Given the description of an element on the screen output the (x, y) to click on. 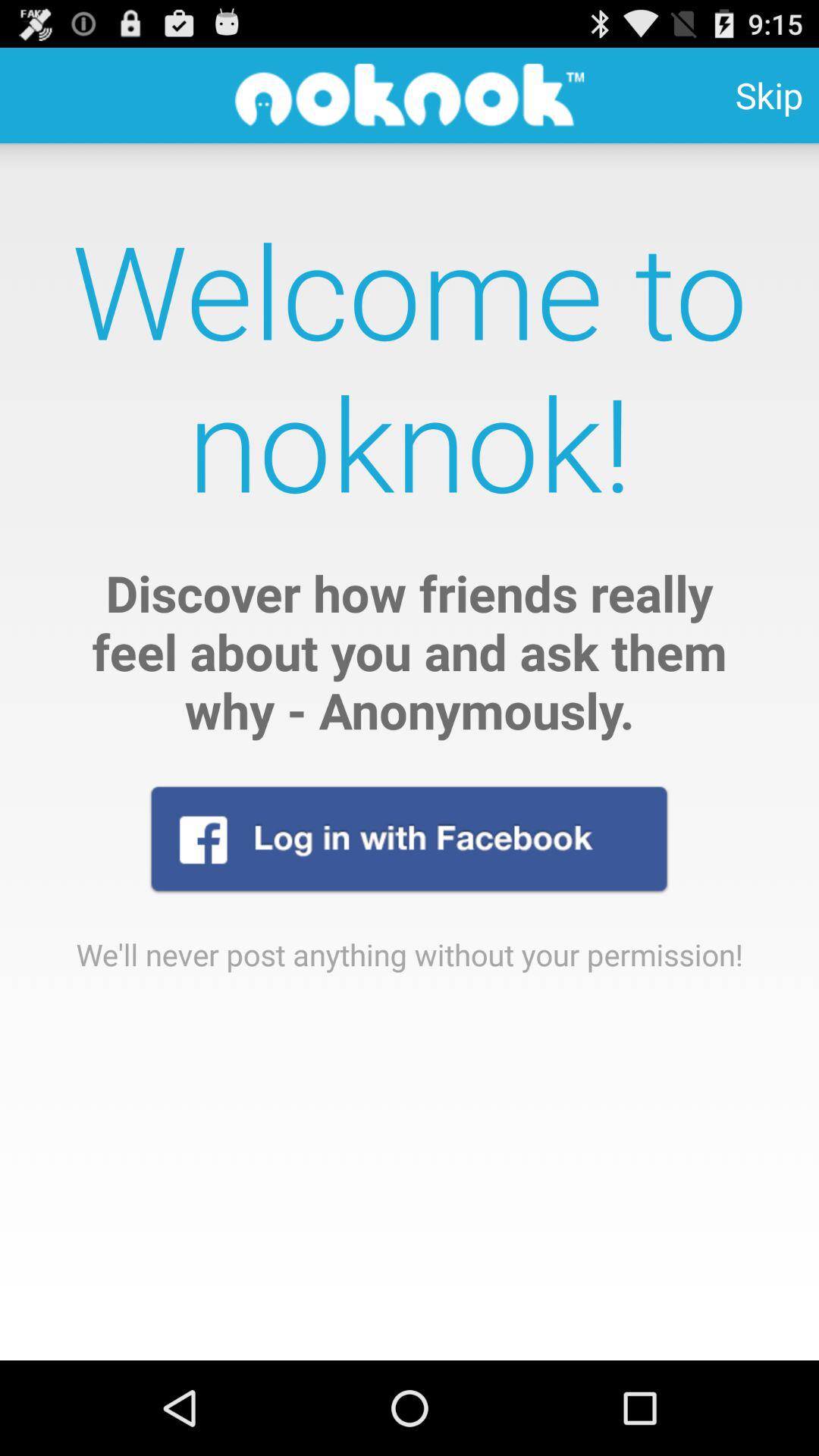
turn off the app below discover how friends icon (408, 838)
